Given the description of an element on the screen output the (x, y) to click on. 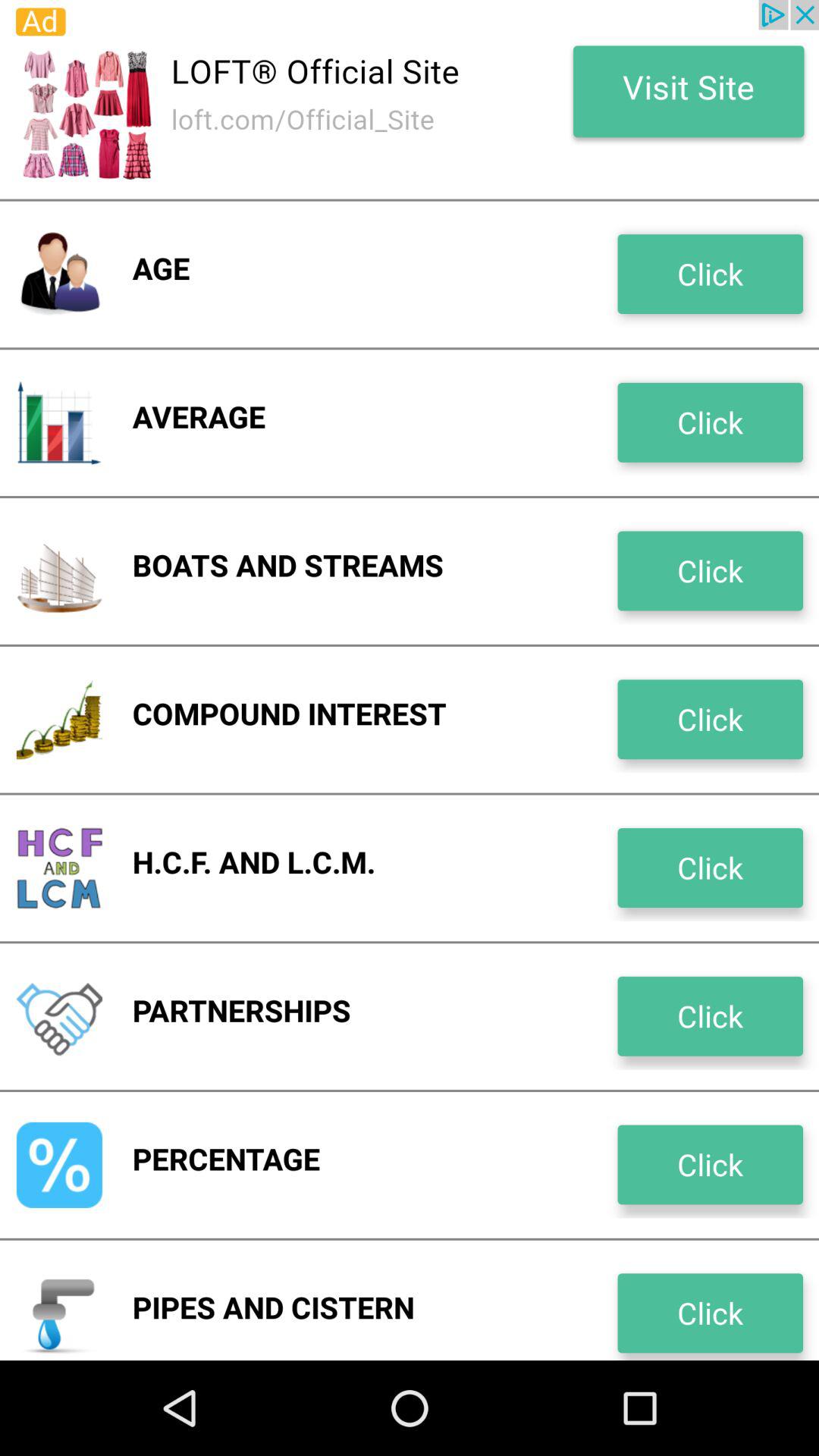
visit site (409, 99)
